Given the description of an element on the screen output the (x, y) to click on. 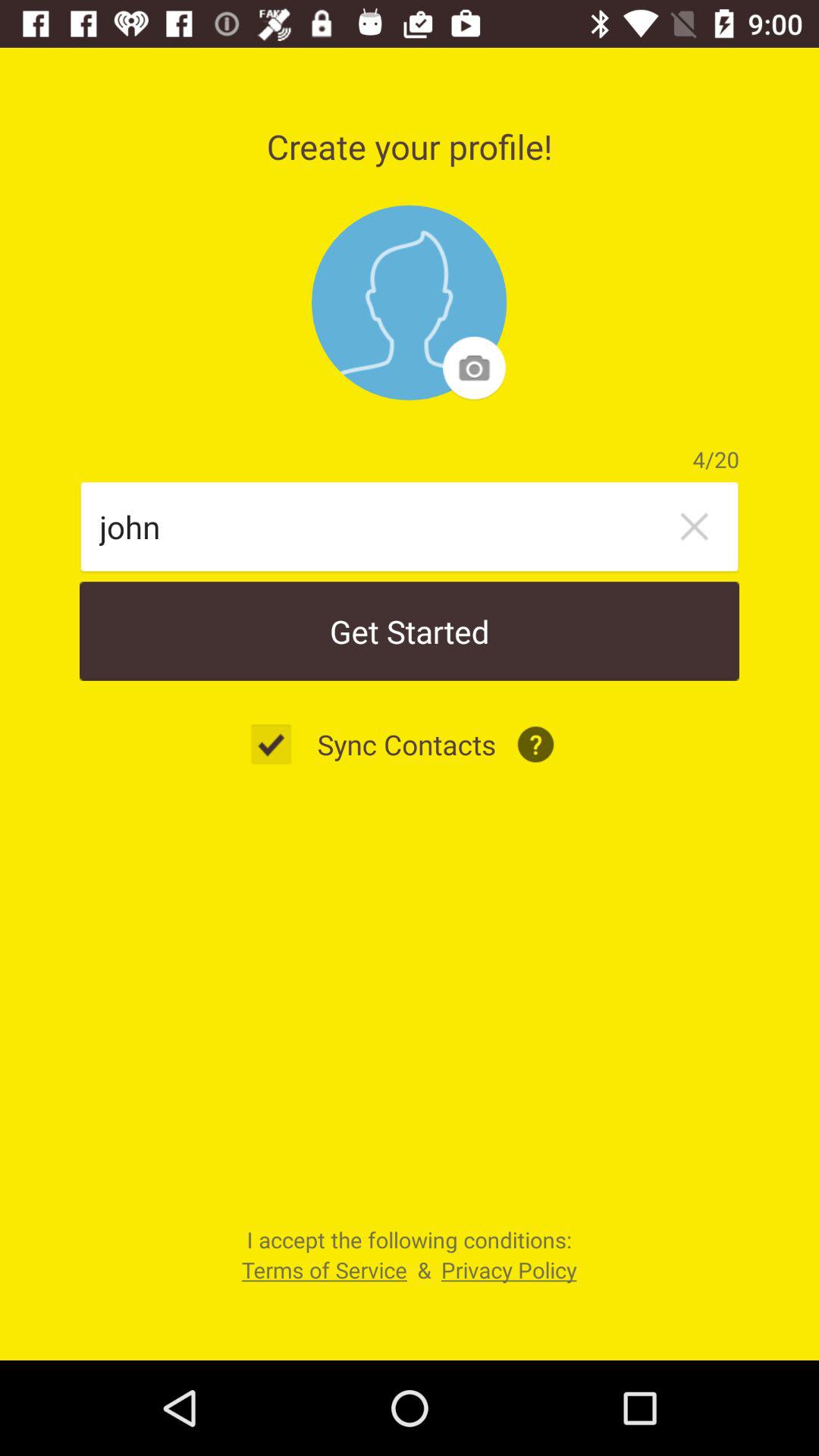
open the item above john icon (408, 302)
